Given the description of an element on the screen output the (x, y) to click on. 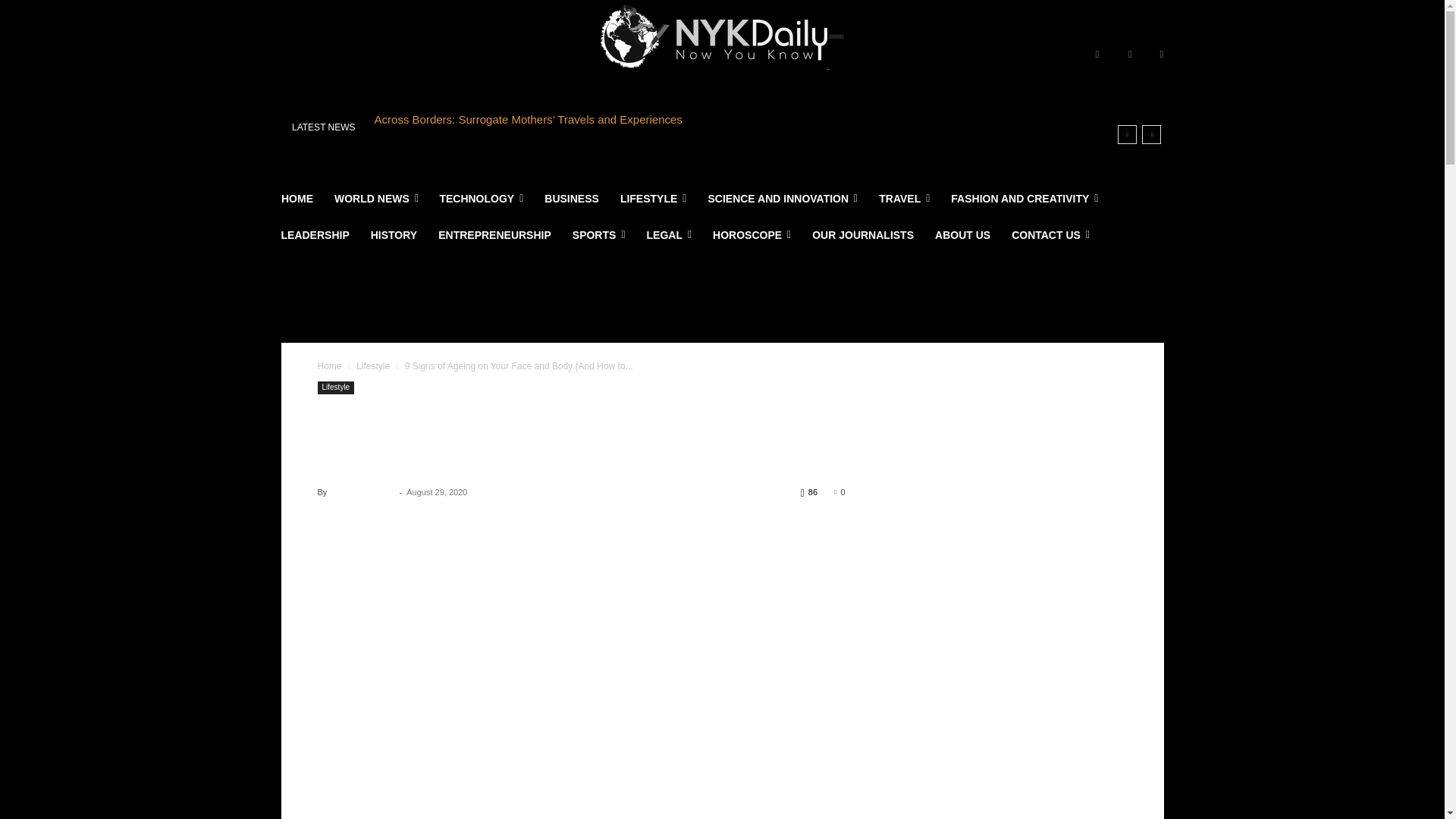
Twitter (1162, 54)
Instagram (1130, 54)
Facebook (1096, 54)
